Given the description of an element on the screen output the (x, y) to click on. 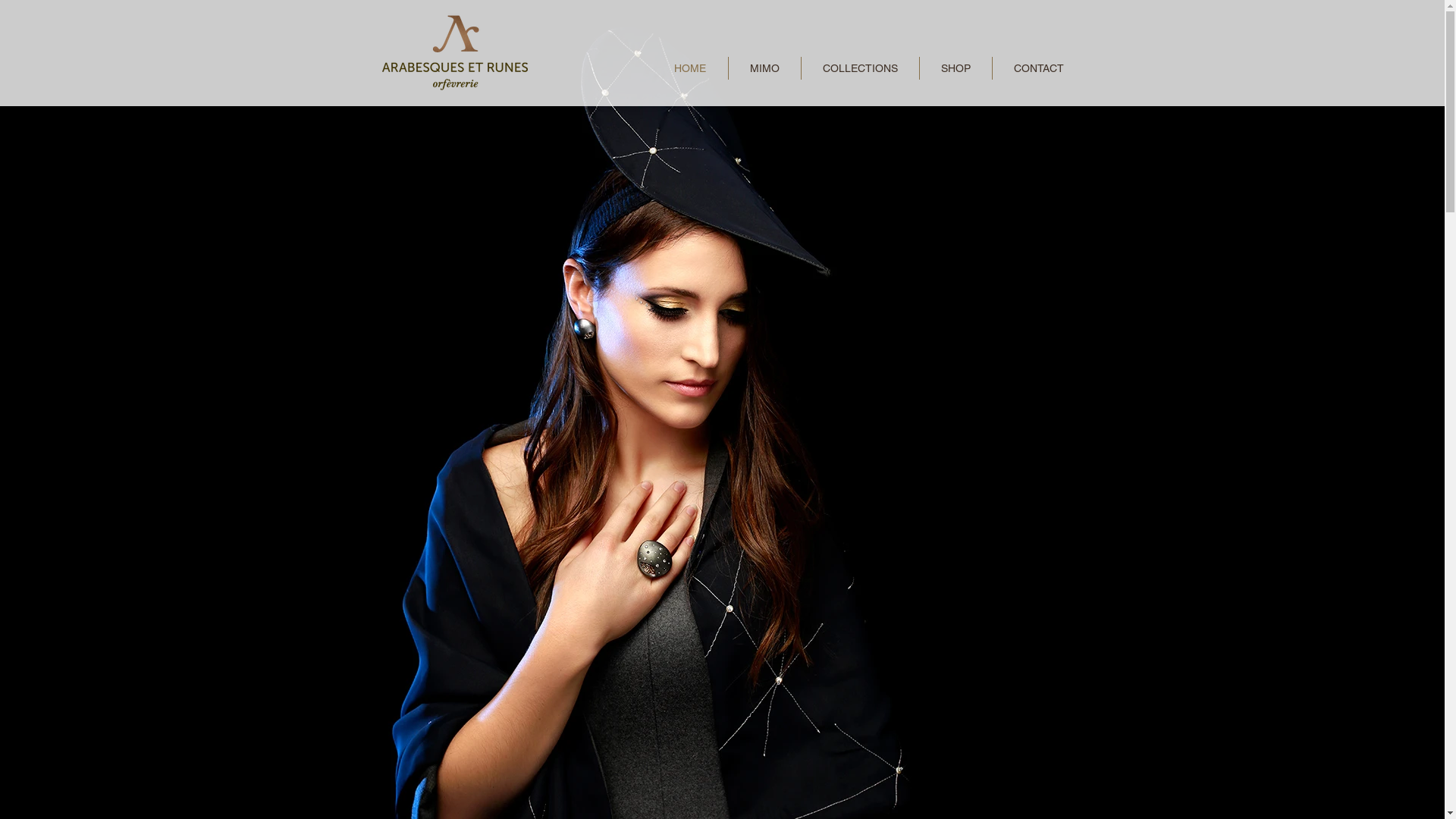
COLLECTIONS Element type: text (859, 67)
CONTACT Element type: text (1037, 67)
MIMO Element type: text (764, 67)
HOME Element type: text (689, 67)
SHOP Element type: text (955, 67)
